Given the description of an element on the screen output the (x, y) to click on. 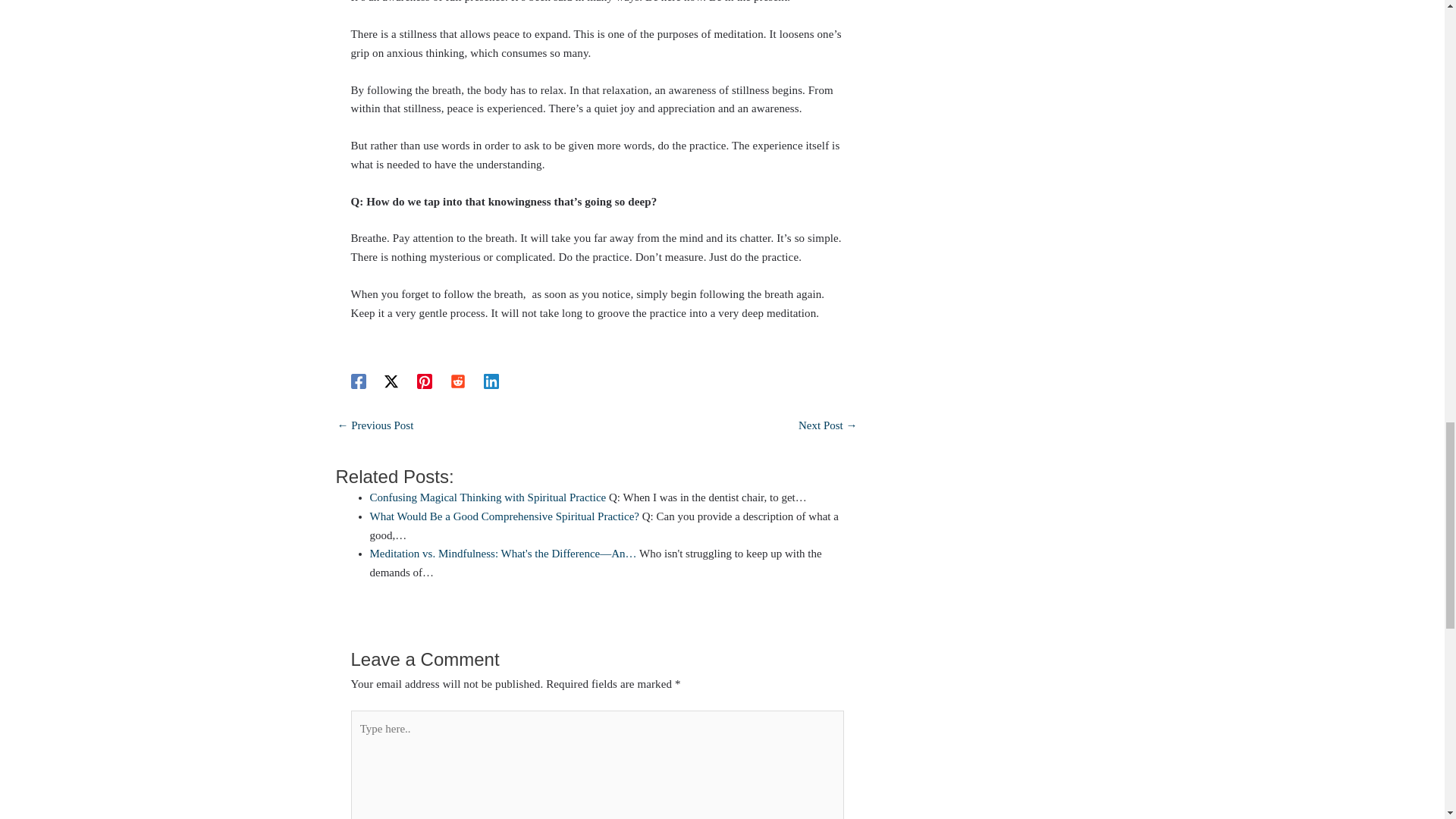
Did Someone Say "Walk?" (827, 427)
